Given the description of an element on the screen output the (x, y) to click on. 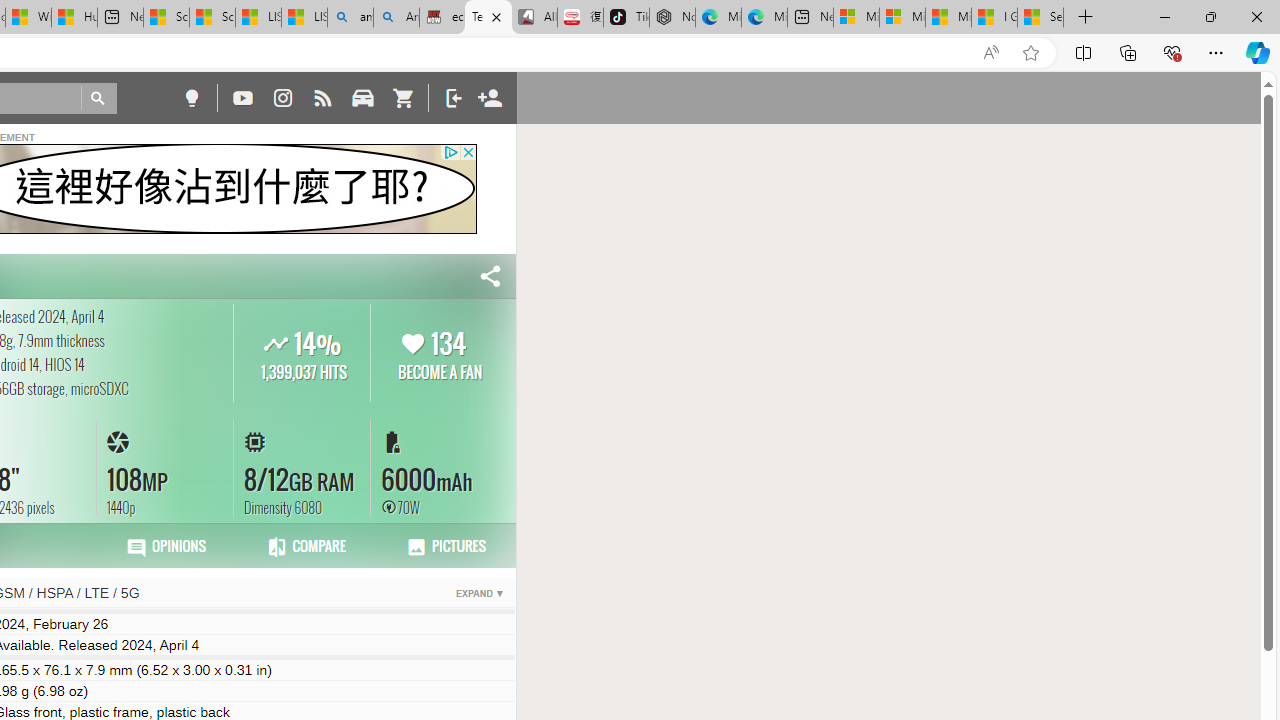
Amazon Echo Dot PNG - Search Images (395, 17)
Microsoft Start (948, 17)
AutomationID: close_button_svg (468, 151)
